Given the description of an element on the screen output the (x, y) to click on. 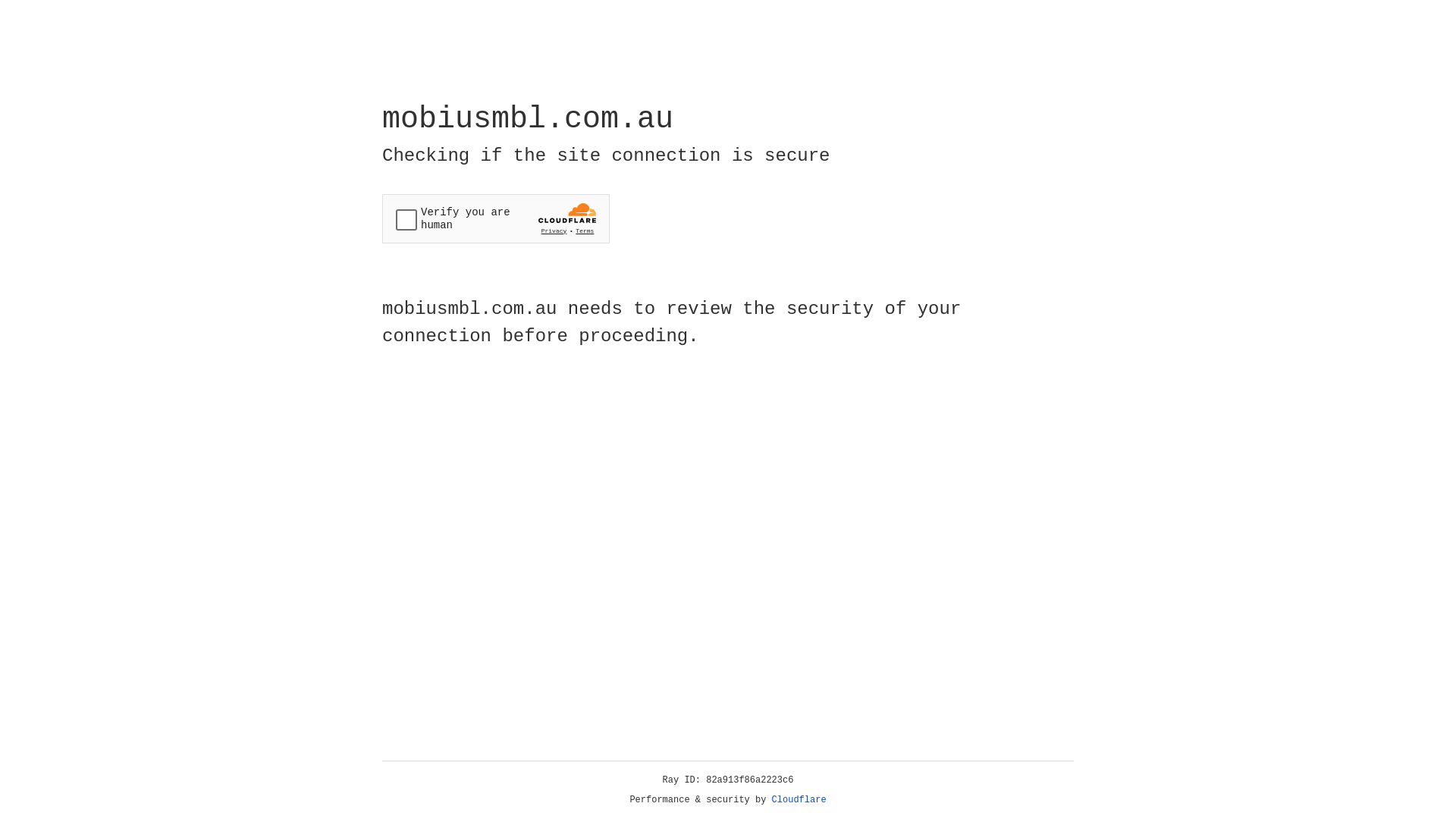
Widget containing a Cloudflare security challenge Element type: hover (495, 218)
Cloudflare Element type: text (798, 799)
